Given the description of an element on the screen output the (x, y) to click on. 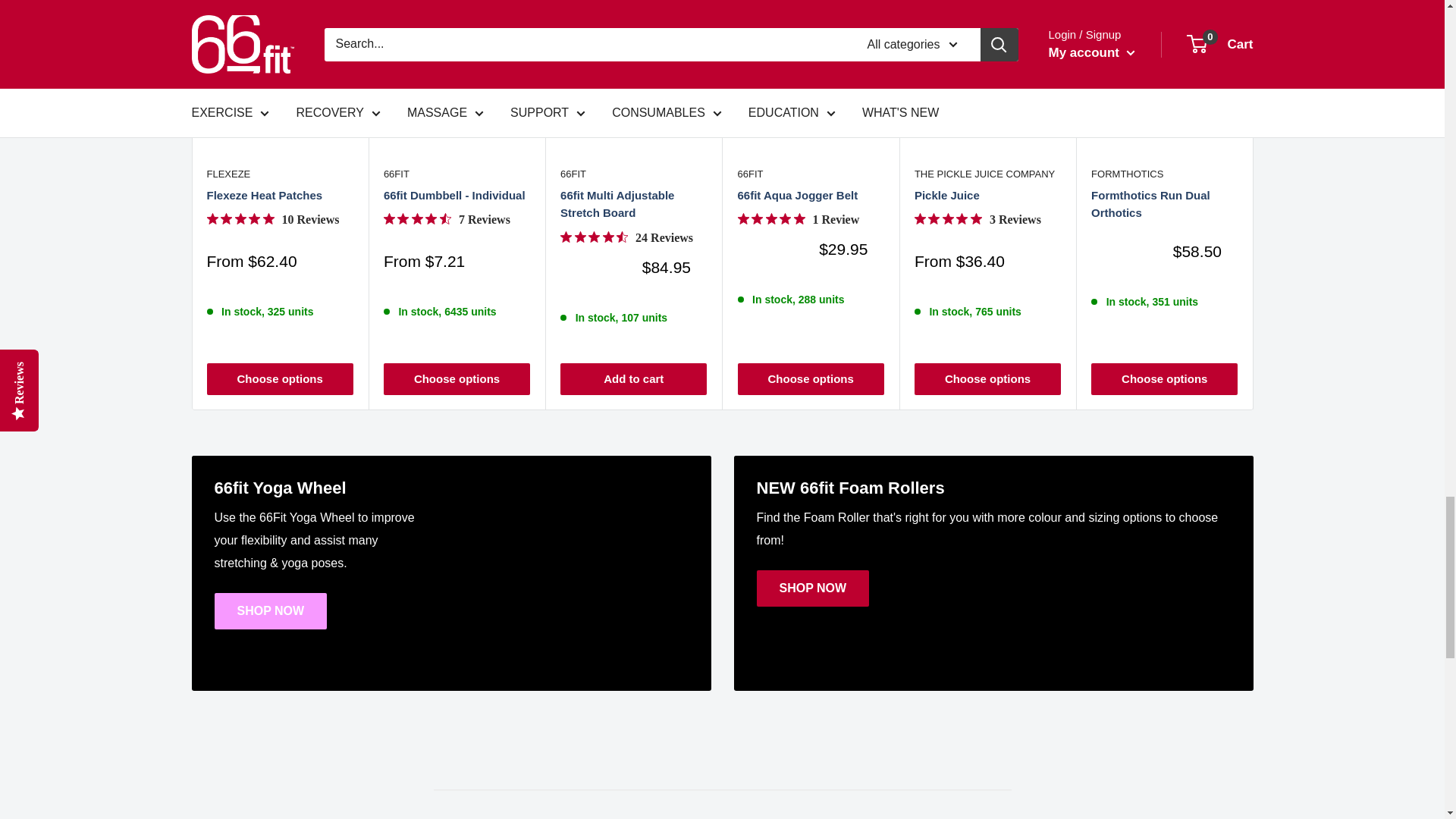
1 Review (797, 219)
10 Reviews (272, 219)
24 Reviews (626, 237)
3 Reviews (977, 219)
7 Reviews (447, 219)
